Given the description of an element on the screen output the (x, y) to click on. 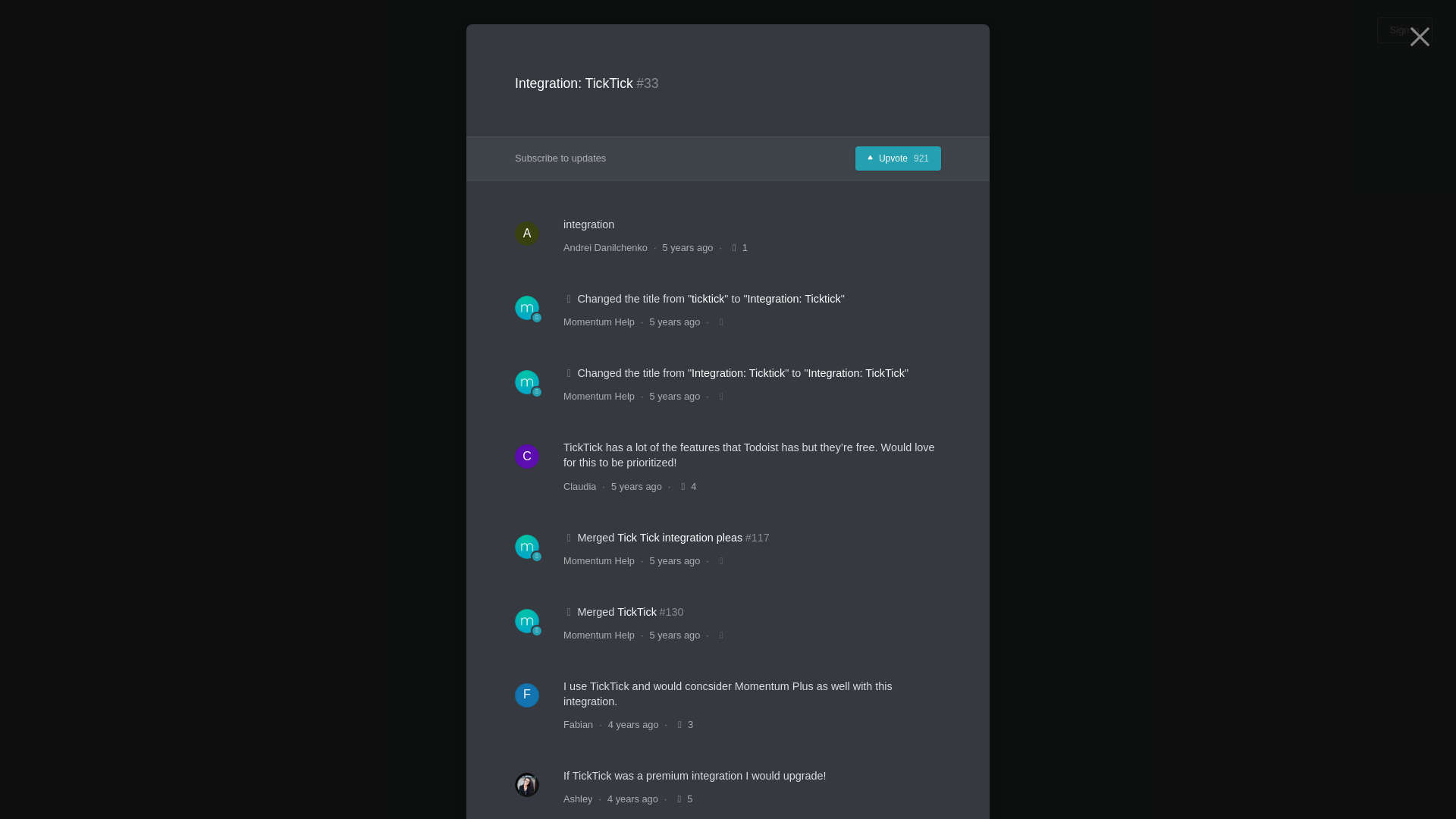
Oct 22, 2019 11:47 AM (687, 247)
Andrei Danilchenko (605, 247)
Momentum Help (598, 635)
Oct 22, 2020 6:47 AM (898, 158)
Sign in (632, 798)
Dec 30, 2019 7:11 PM (1404, 30)
Nov 20, 2019 9:54 PM (674, 561)
Ashley (674, 396)
Jan 7, 2020 10:26 PM (577, 798)
